Given the description of an element on the screen output the (x, y) to click on. 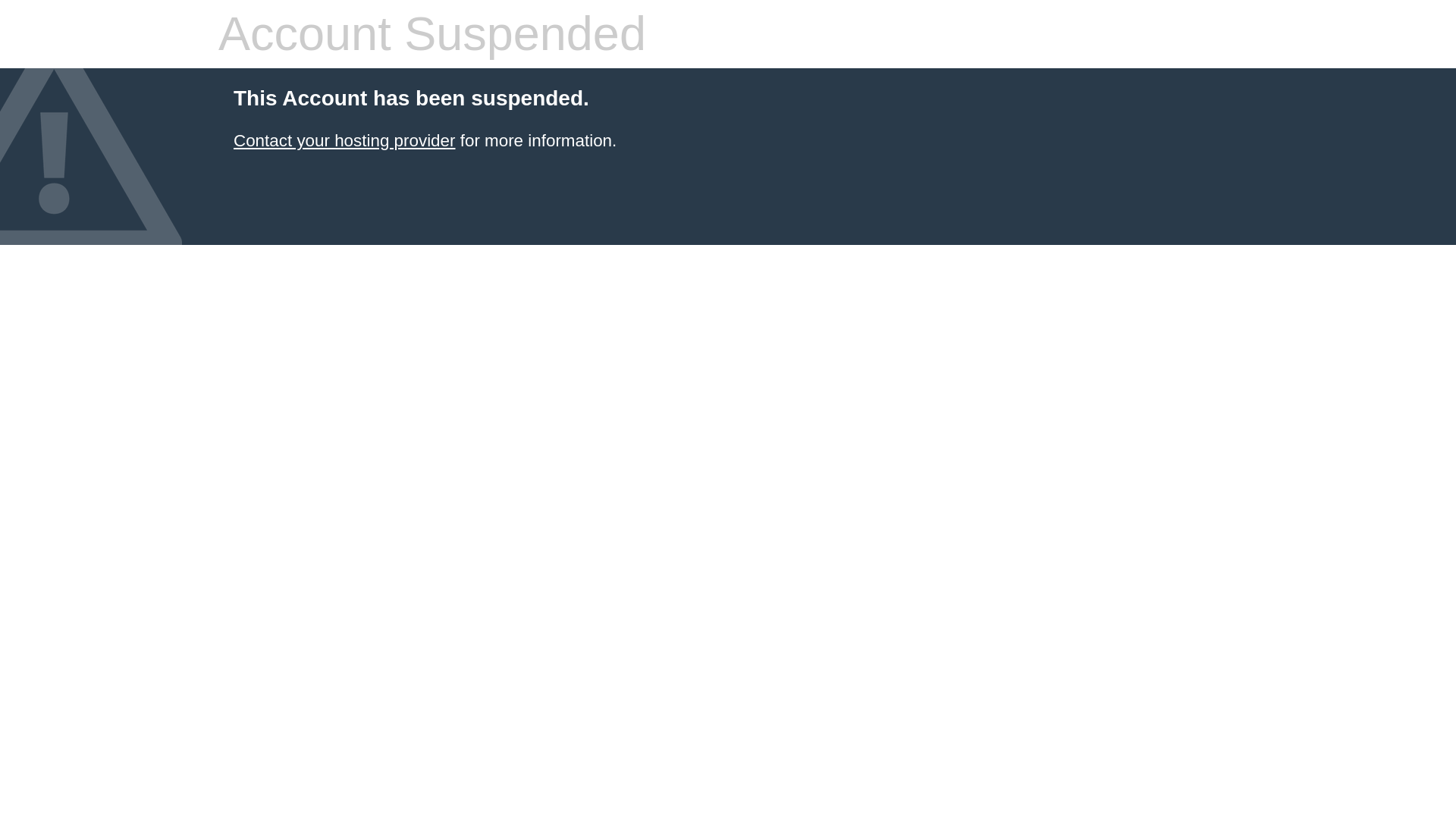
Contact your hosting provider (343, 140)
